Given the description of an element on the screen output the (x, y) to click on. 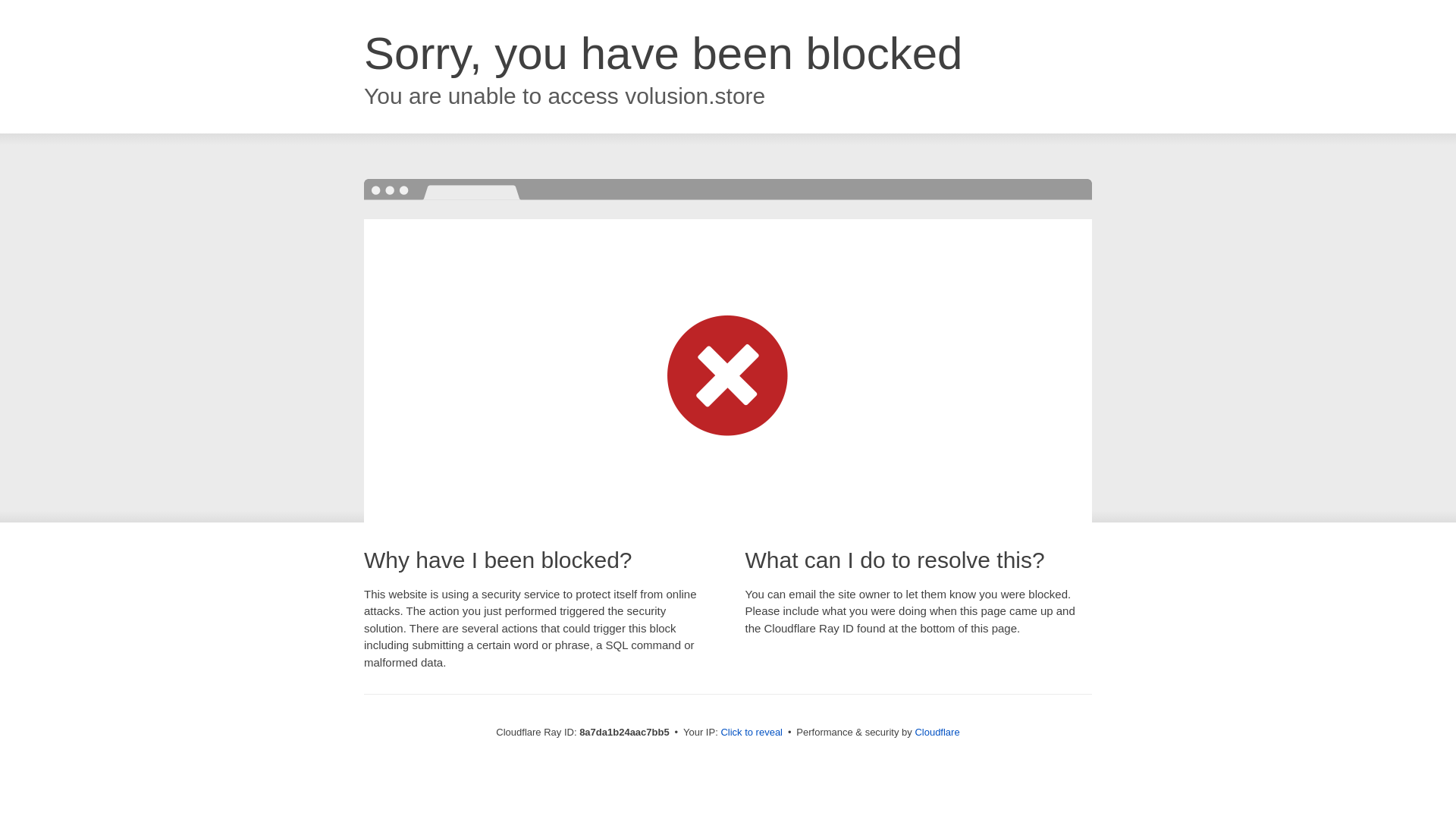
Cloudflare (936, 731)
Click to reveal (751, 732)
